Given the description of an element on the screen output the (x, y) to click on. 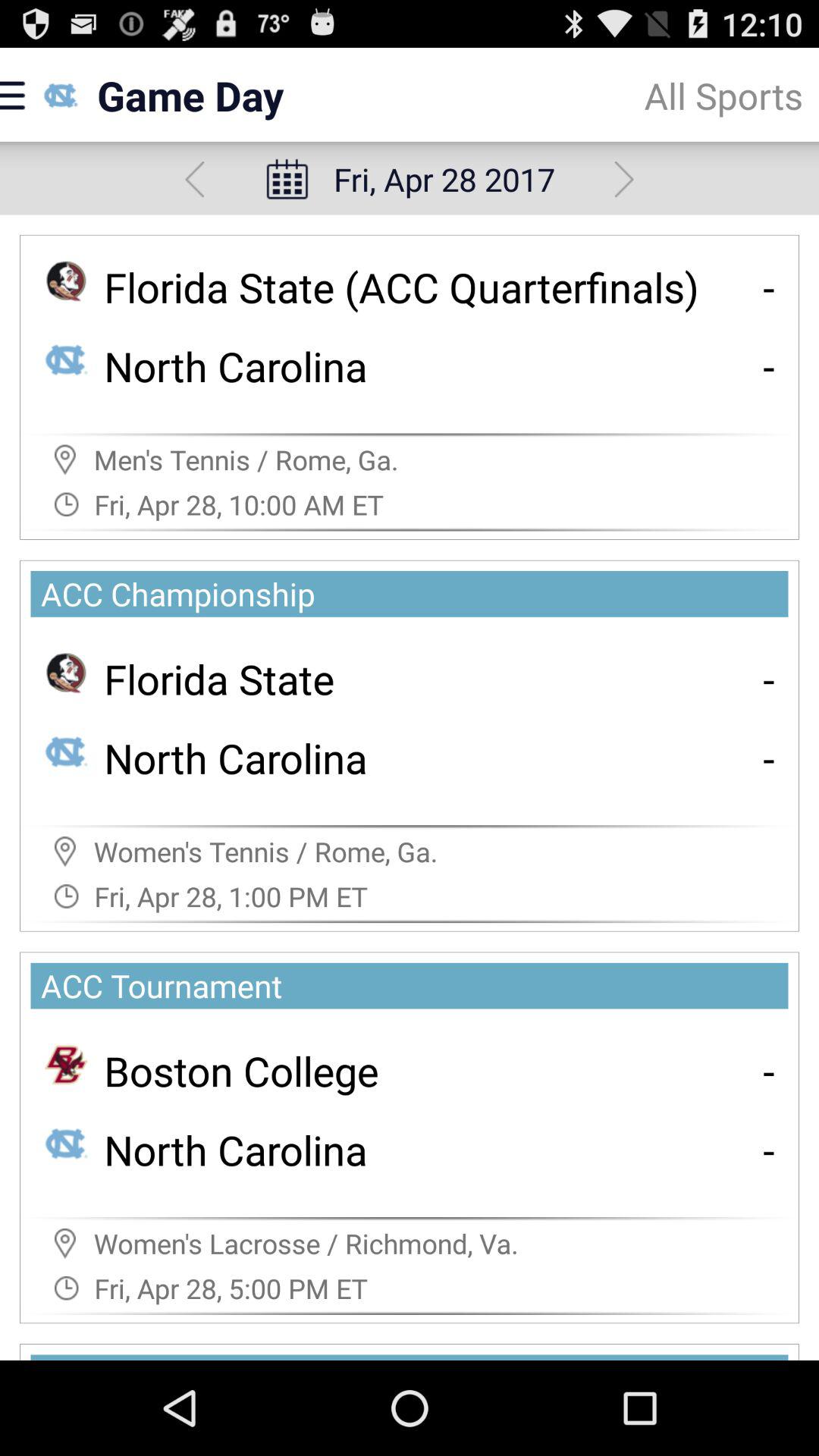
launch the - (768, 678)
